Given the description of an element on the screen output the (x, y) to click on. 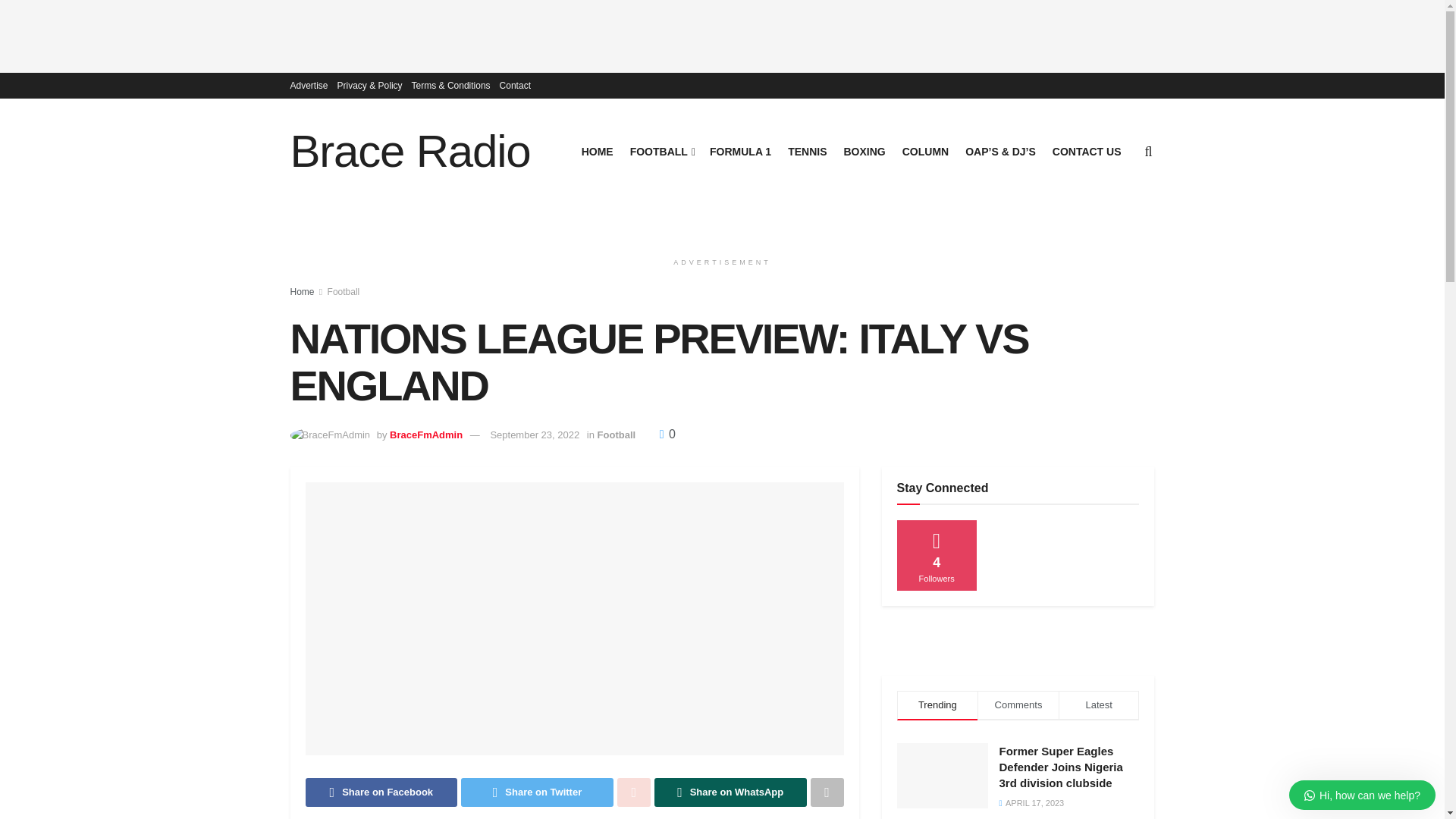
FORMULA 1 (740, 151)
Brace Radio (409, 151)
Contact (515, 85)
HOME (596, 151)
TENNIS (807, 151)
CONTACT US (1086, 151)
Advertise (308, 85)
FOOTBALL (661, 151)
BOXING (864, 151)
COLUMN (925, 151)
